Given the description of an element on the screen output the (x, y) to click on. 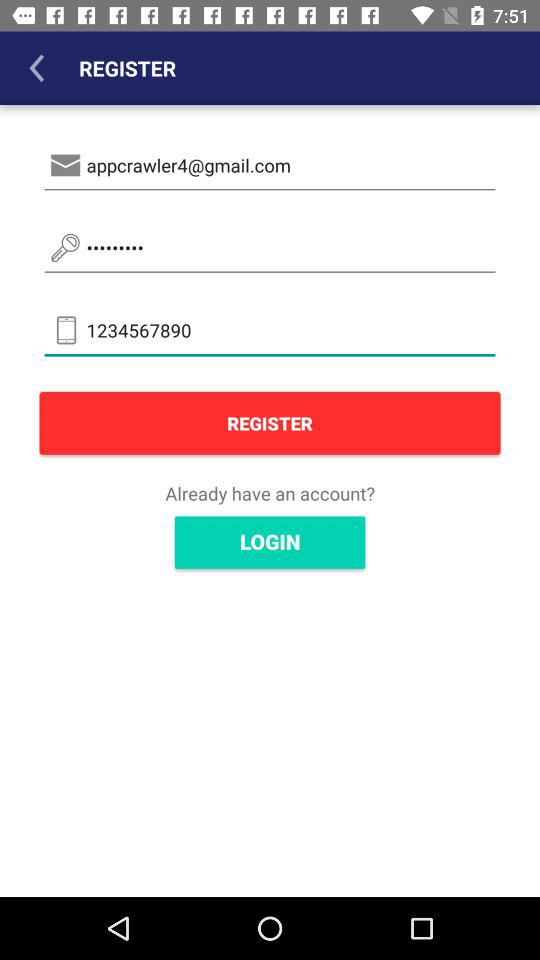
launch the login (269, 542)
